Given the description of an element on the screen output the (x, y) to click on. 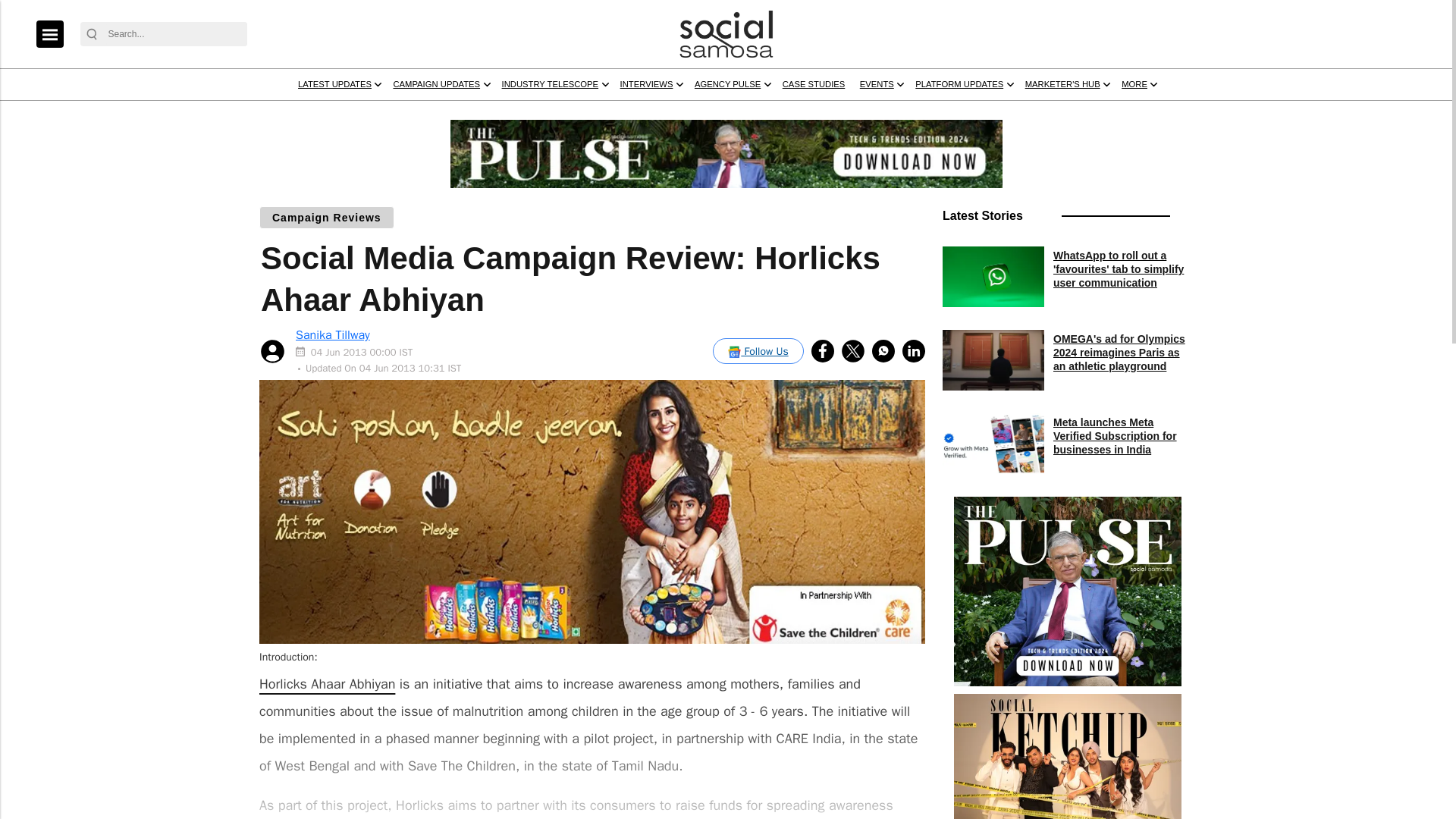
INDUSTRY TELESCOPE (732, 113)
LATEST UPDATES (446, 113)
CAMPAIGN UPDATES (582, 113)
INTERVIEWS (861, 113)
AGENCY PULSE (969, 113)
CASE STUDIES (1085, 113)
PLATFORM UPDATES (1278, 113)
EVENTS (1168, 113)
